Given the description of an element on the screen output the (x, y) to click on. 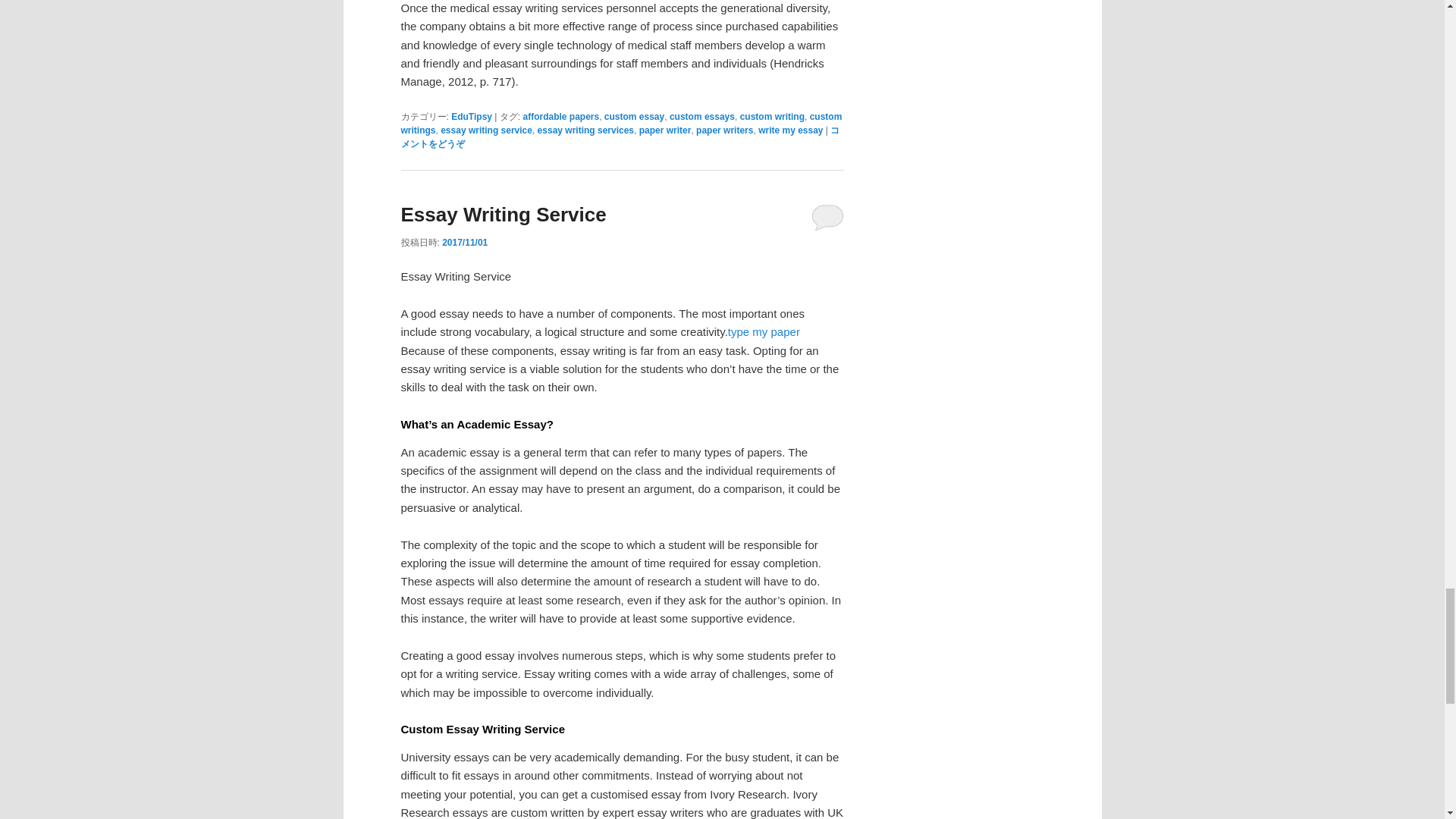
paper writers (723, 130)
8:14 PM (464, 242)
custom essays (702, 116)
type my paper (763, 331)
paper writer (665, 130)
essay writing service (486, 130)
custom writings (620, 123)
EduTipsy (471, 116)
custom essay (633, 116)
affordable papers (560, 116)
